Given the description of an element on the screen output the (x, y) to click on. 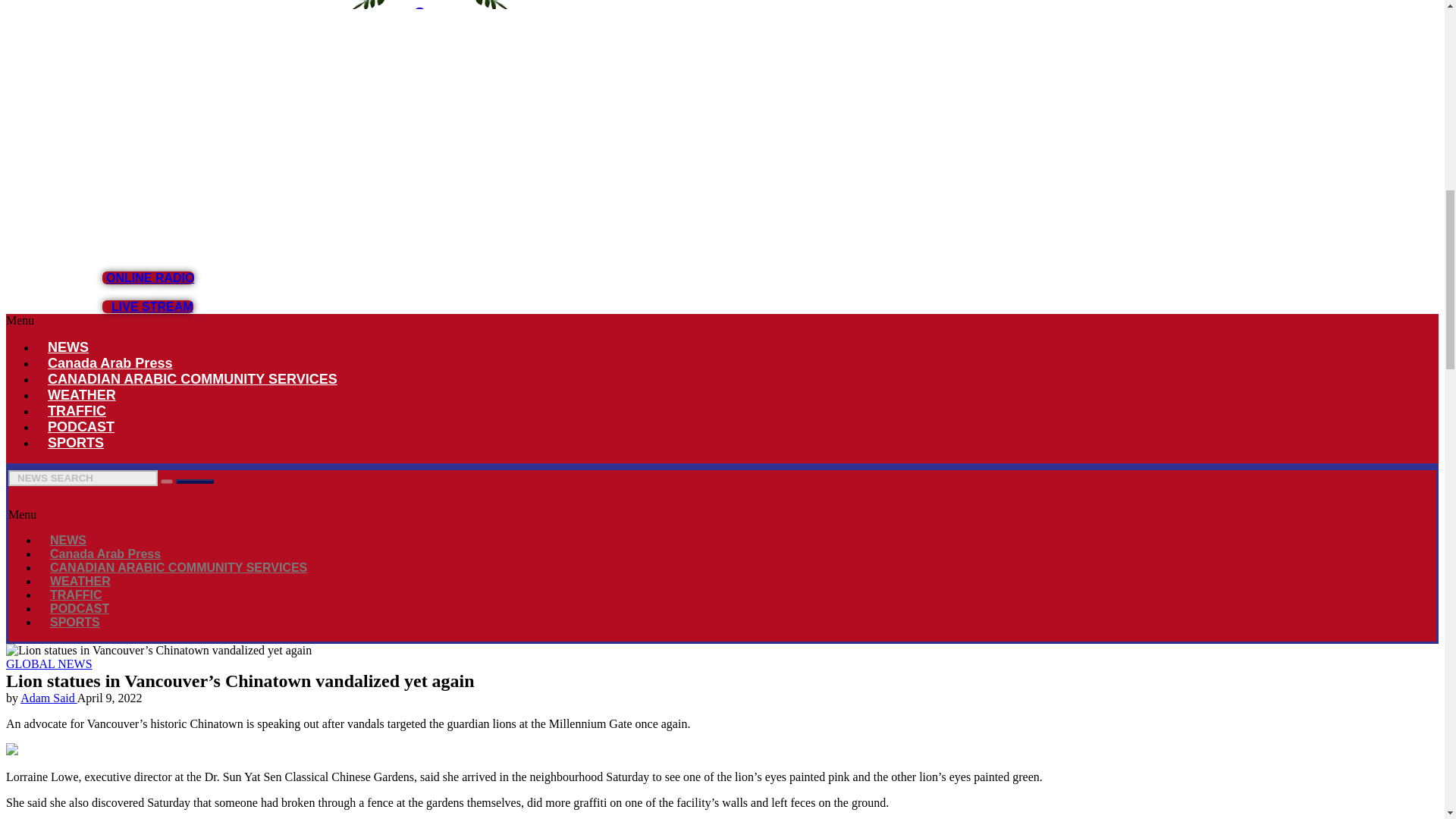
CANADIAN ARABIC COMMUNITY SERVICES (192, 379)
NEWS (68, 347)
Canada Arab Press (109, 362)
WEATHER (82, 394)
Canada Arab Press (105, 553)
LIVE STREAM (147, 306)
PODCAST (80, 426)
ONLINE RADIO (147, 277)
NEWS (68, 539)
TRAFFIC (76, 410)
